Given the description of an element on the screen output the (x, y) to click on. 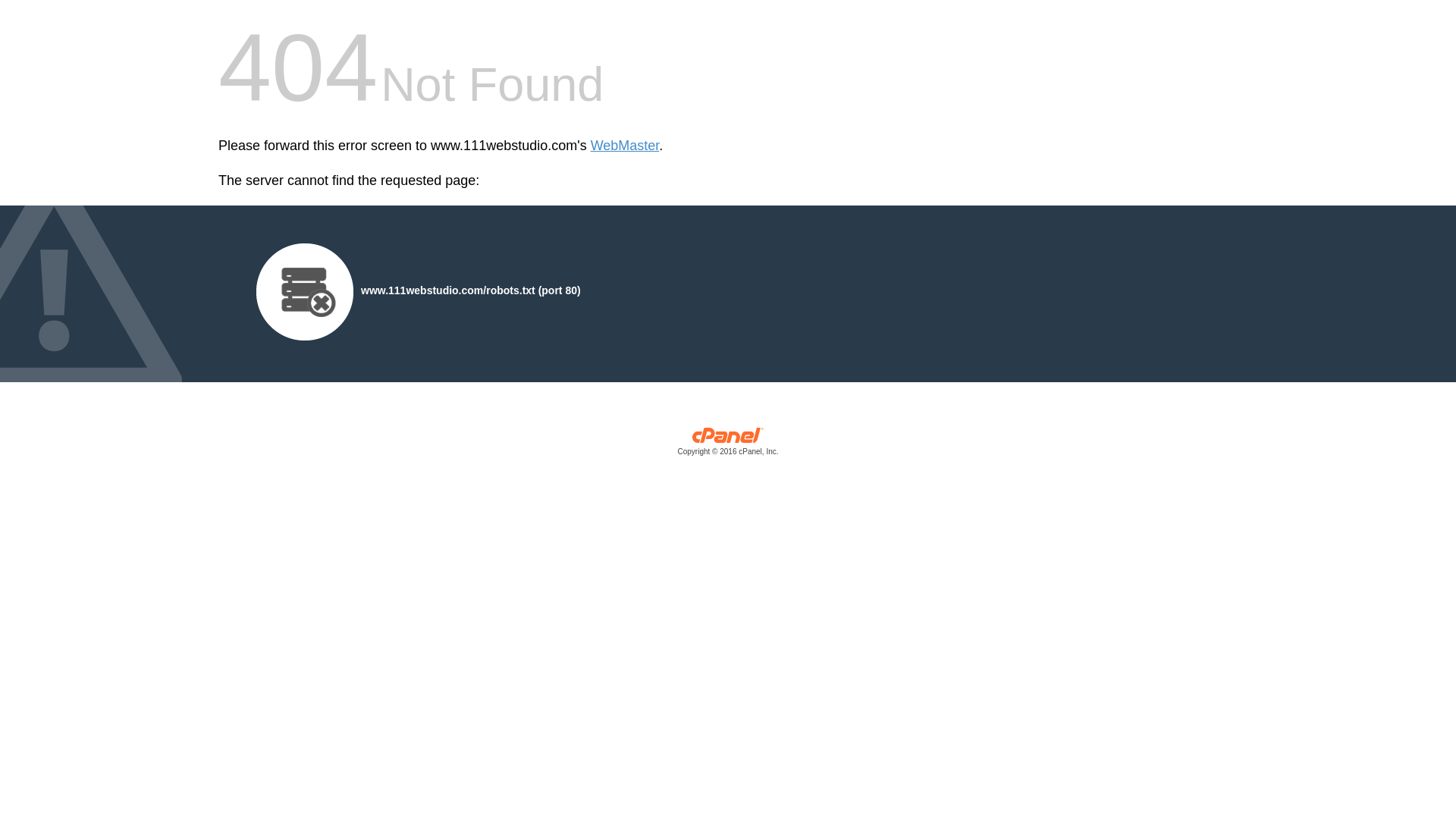
WebMaster Element type: text (624, 145)
